Given the description of an element on the screen output the (x, y) to click on. 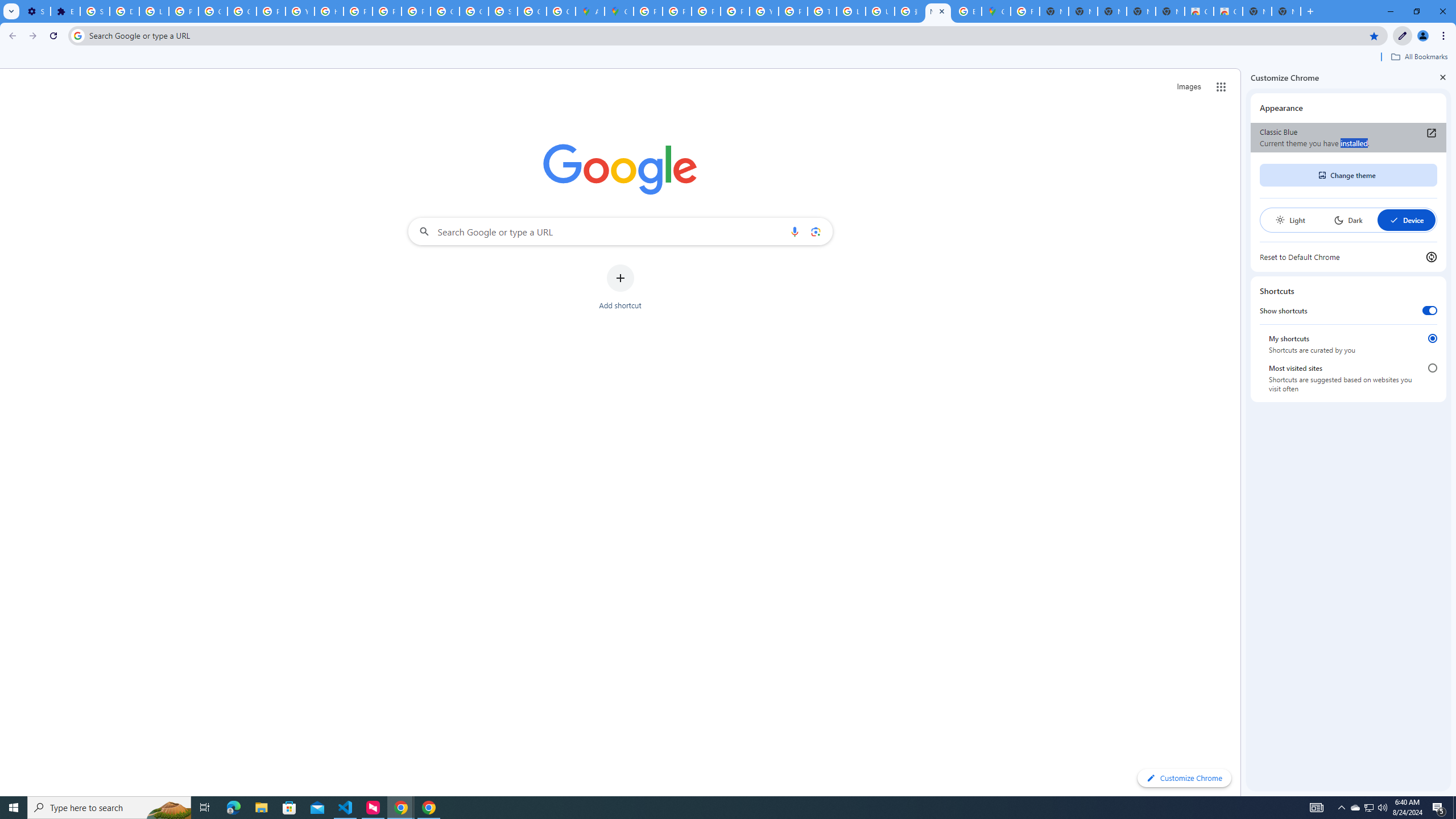
YouTube (300, 11)
Google Maps (619, 11)
Privacy Help Center - Policies Help (677, 11)
Sign in - Google Accounts (502, 11)
